Given the description of an element on the screen output the (x, y) to click on. 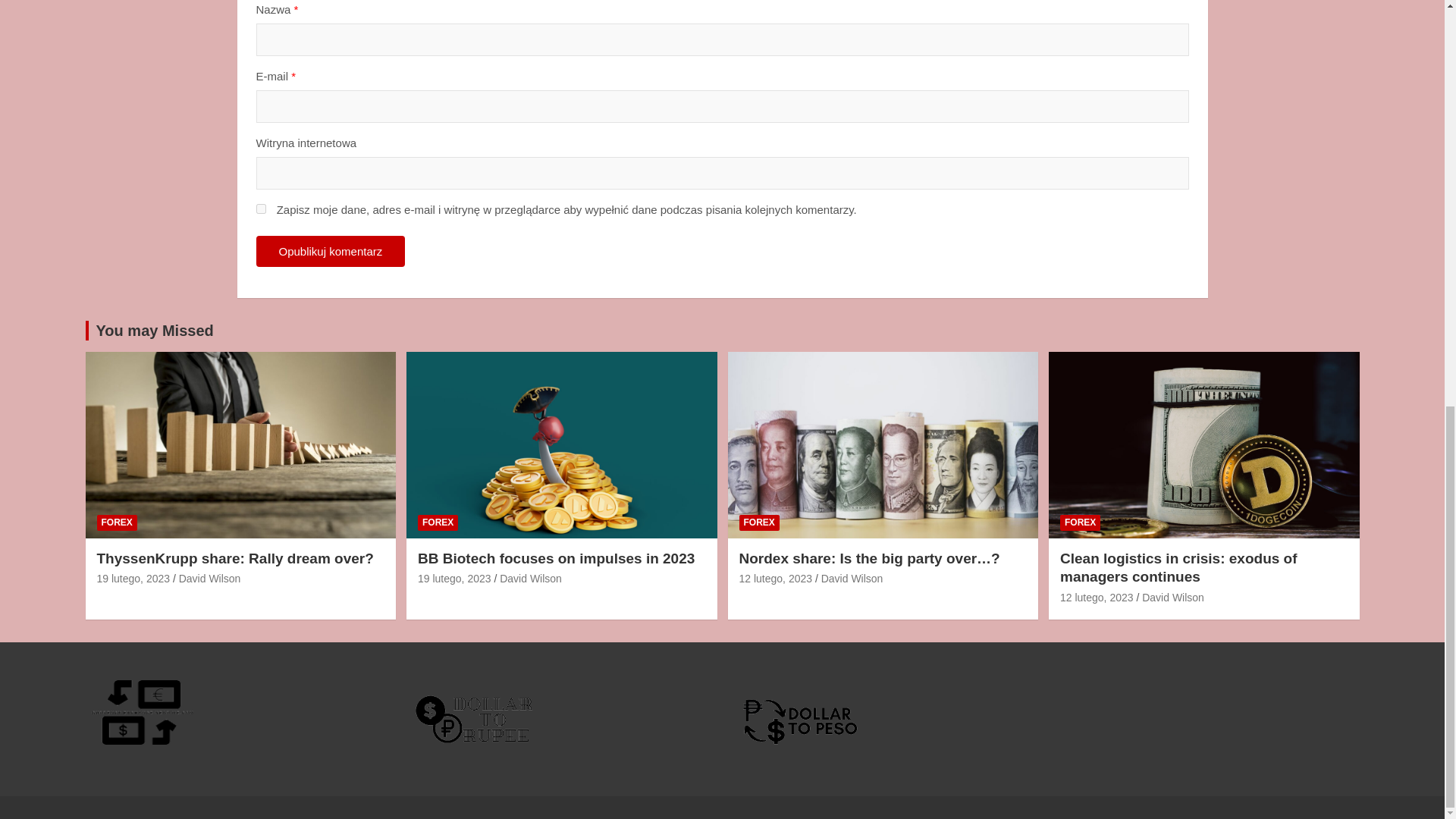
David Wilson (210, 578)
yes (261, 208)
FOREX (116, 522)
You may Missed (154, 330)
David Wilson (1172, 597)
FOREX (1079, 522)
BB Biotech focuses on impulses in 2023 (454, 578)
Opublikuj komentarz (331, 250)
19 lutego, 2023 (133, 578)
Clean logistics in crisis: exodus of managers continues (1178, 567)
